Given the description of an element on the screen output the (x, y) to click on. 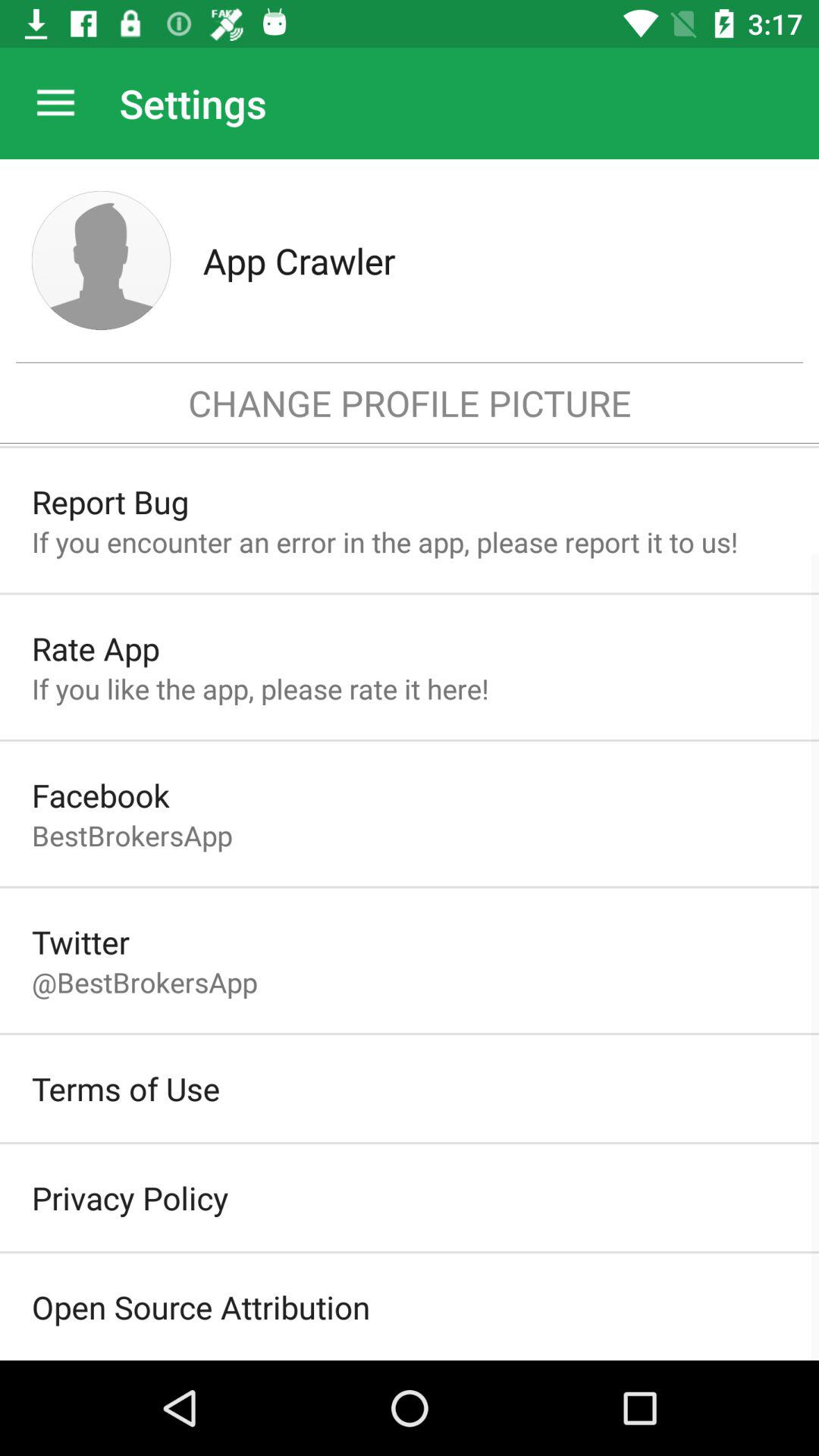
swipe until open source attribution item (200, 1306)
